Given the description of an element on the screen output the (x, y) to click on. 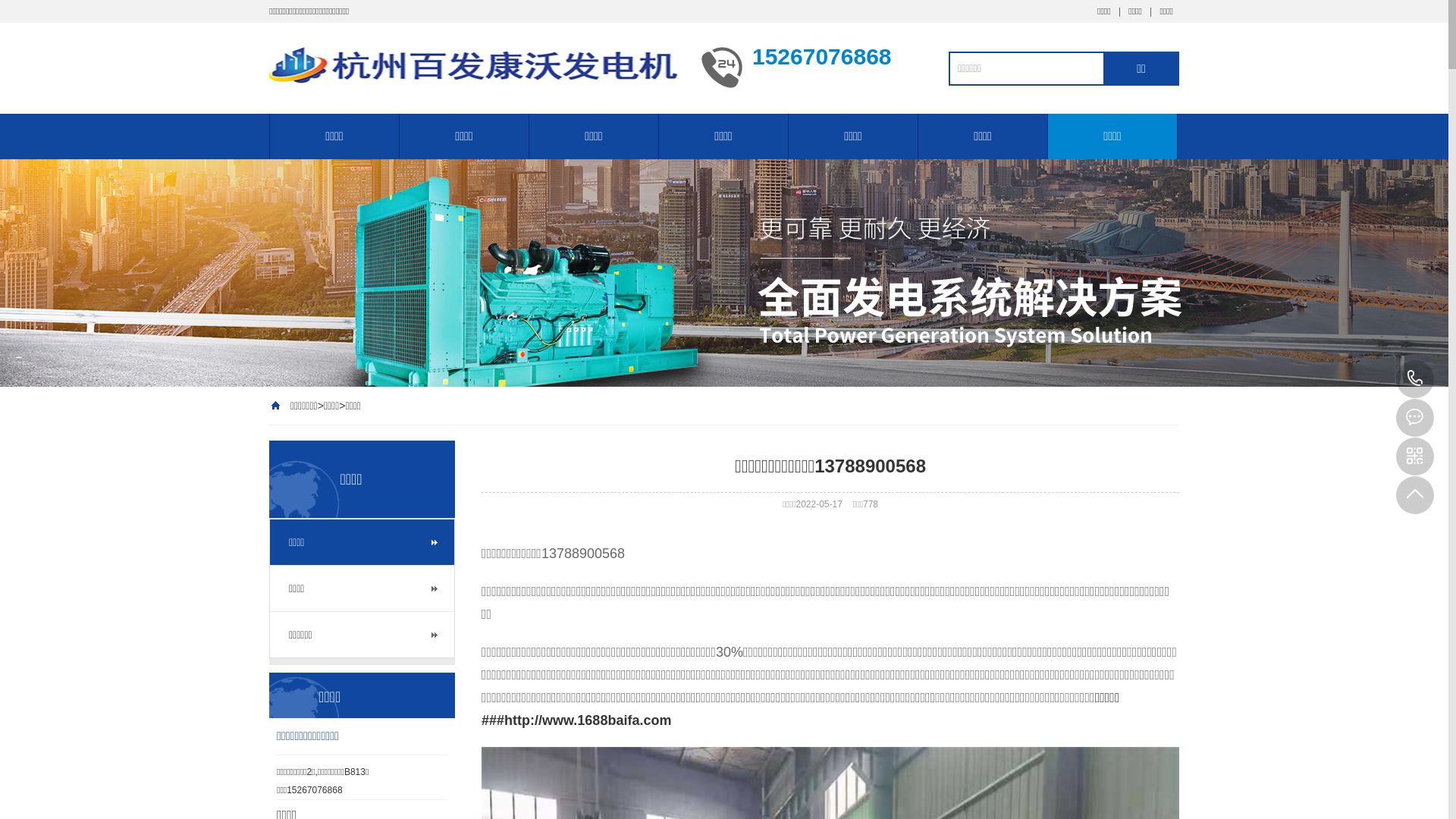
15267076868 Element type: text (1415, 379)
